Given the description of an element on the screen output the (x, y) to click on. 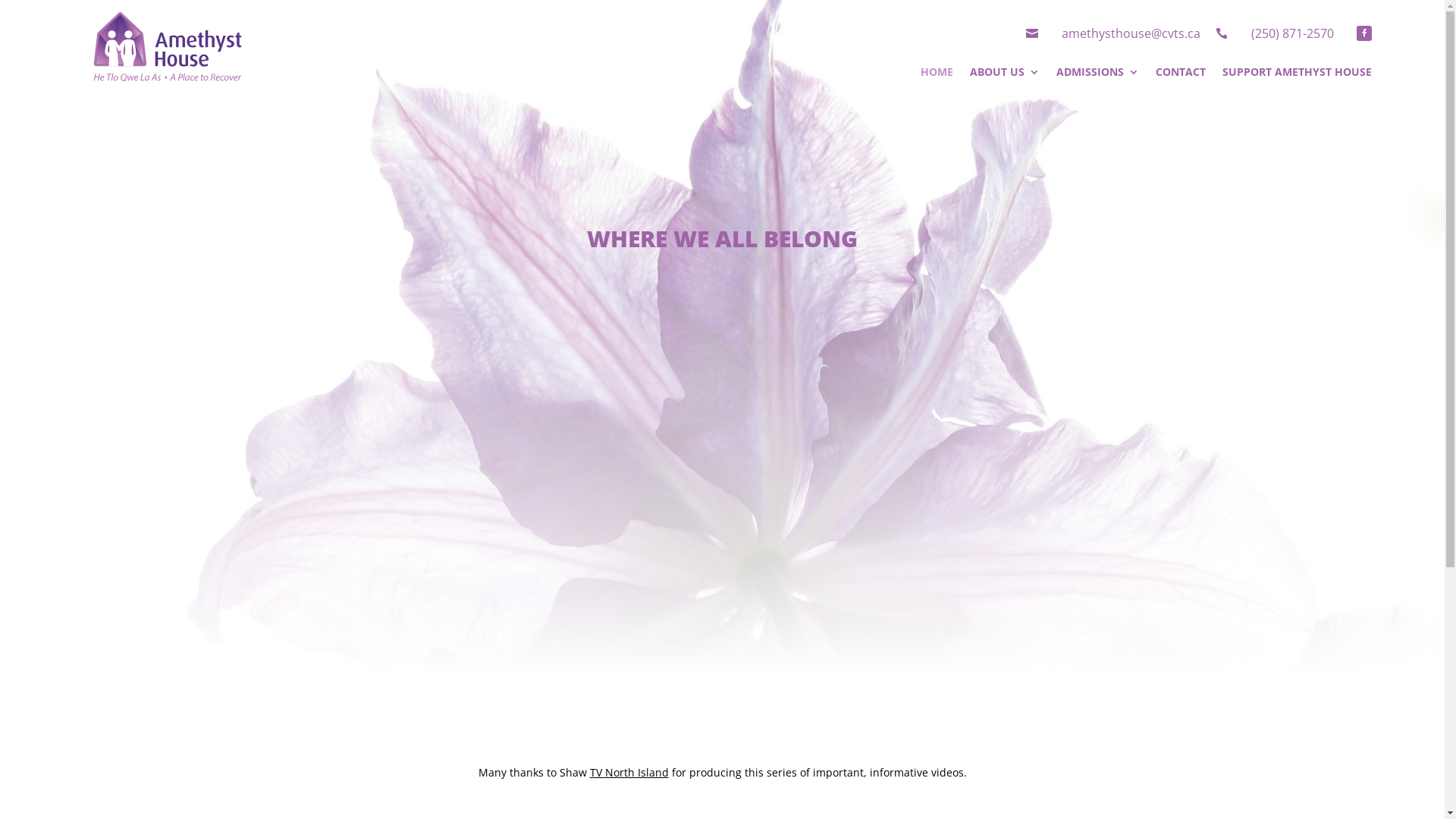
ADMISSIONS Element type: text (1097, 74)
HOME Element type: text (936, 74)
amethysthouse@cvts.ca Element type: text (1130, 33)
ABOUT US Element type: text (1004, 74)
Follow on Facebook Element type: hover (1363, 32)
Where We All Belong - Episode 1 DSC Element type: hover (721, 510)
SUPPORT AMETHYST HOUSE Element type: text (1296, 74)
CONTACT Element type: text (1180, 74)
(250) 871-2570 Element type: text (1292, 33)
